Given the description of an element on the screen output the (x, y) to click on. 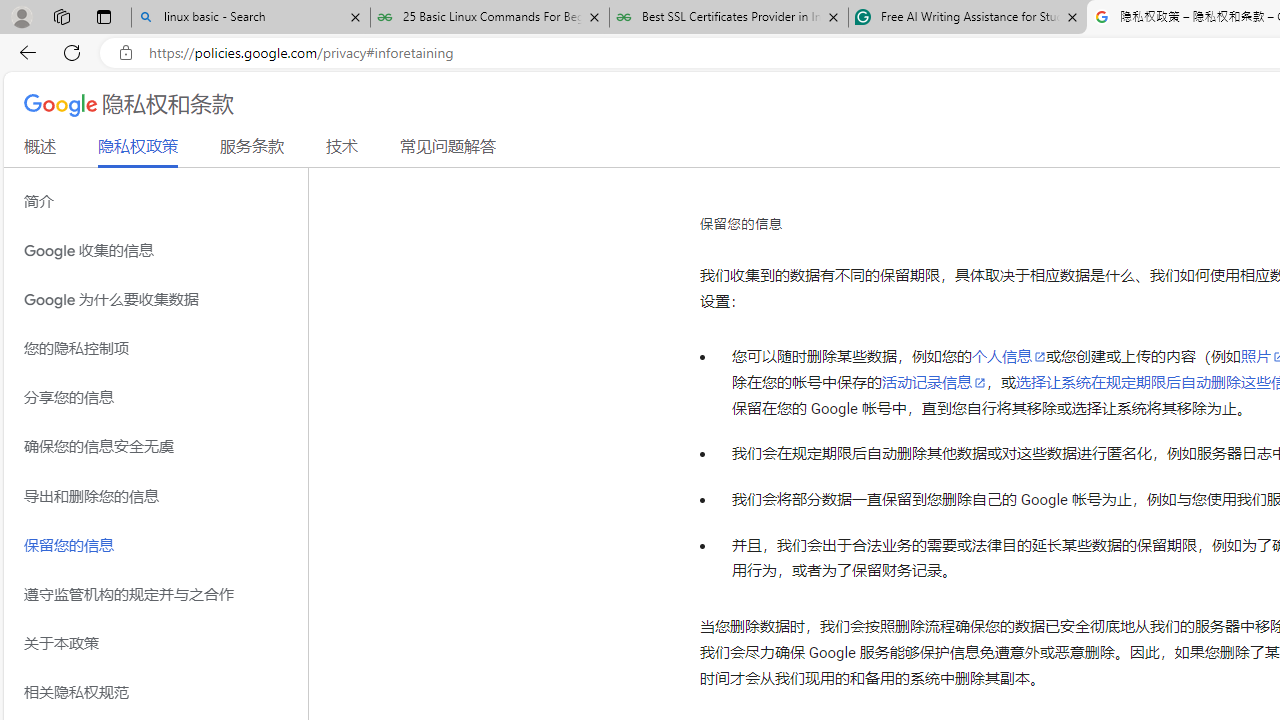
linux basic - Search (250, 17)
25 Basic Linux Commands For Beginners - GeeksforGeeks (490, 17)
